Given the description of an element on the screen output the (x, y) to click on. 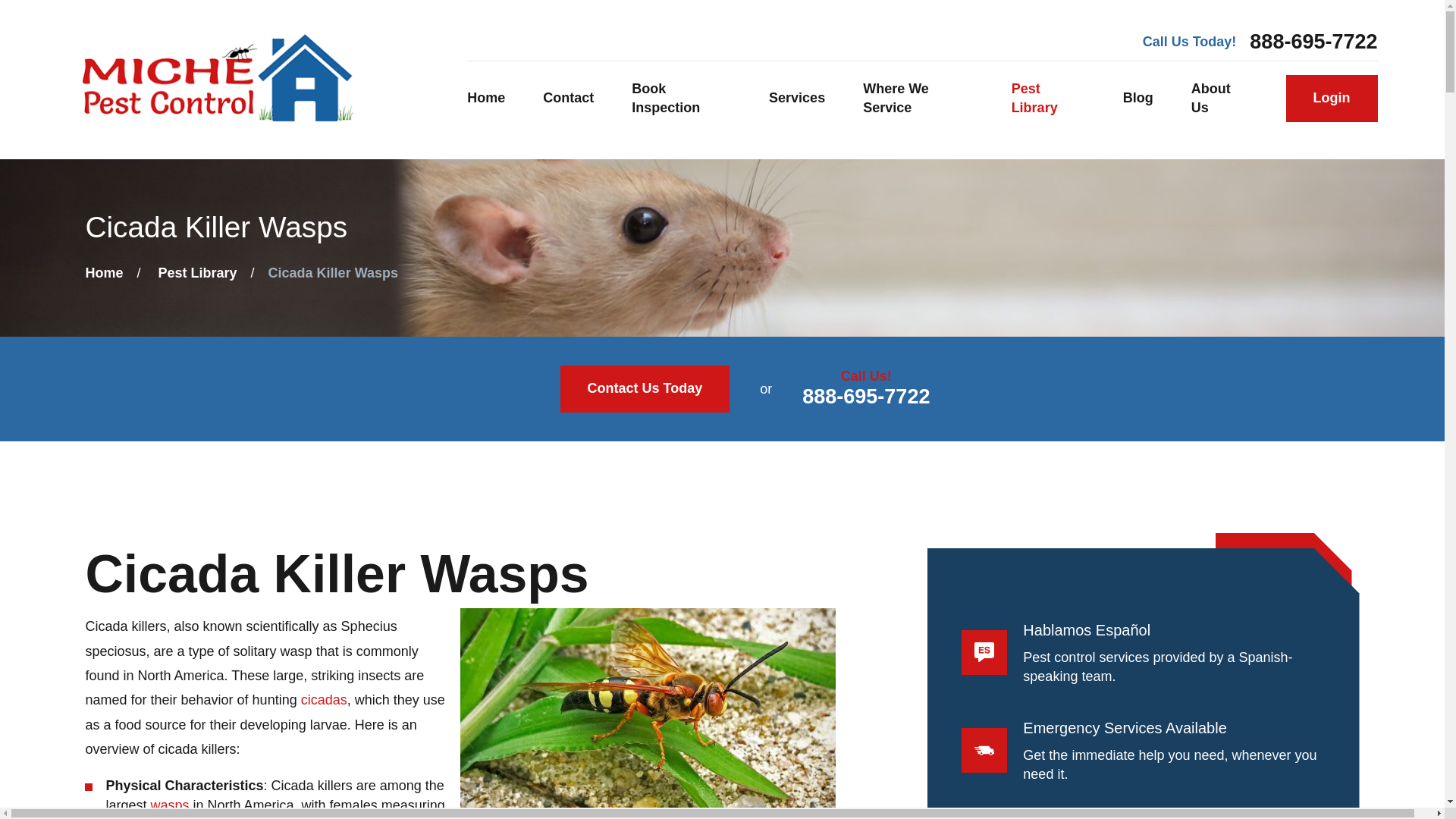
Where We Service (917, 98)
Home (217, 79)
Miche Pest Control (217, 79)
888-695-7722 (1313, 41)
Services (796, 98)
Pest Library (1047, 98)
Go Home (103, 272)
Contact (568, 98)
Book Inspection (680, 98)
